Given the description of an element on the screen output the (x, y) to click on. 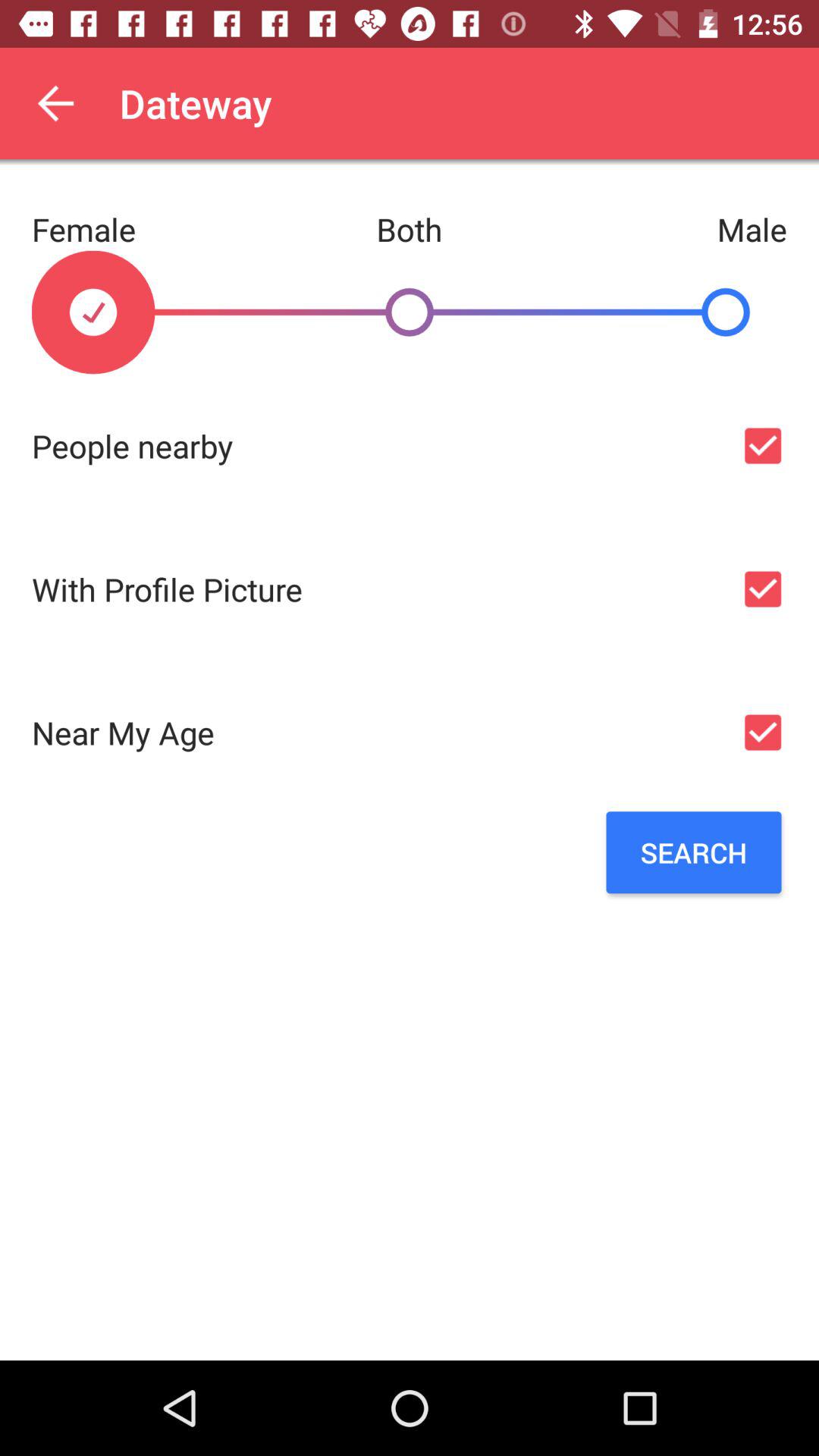
toggle people nearby option (762, 445)
